Given the description of an element on the screen output the (x, y) to click on. 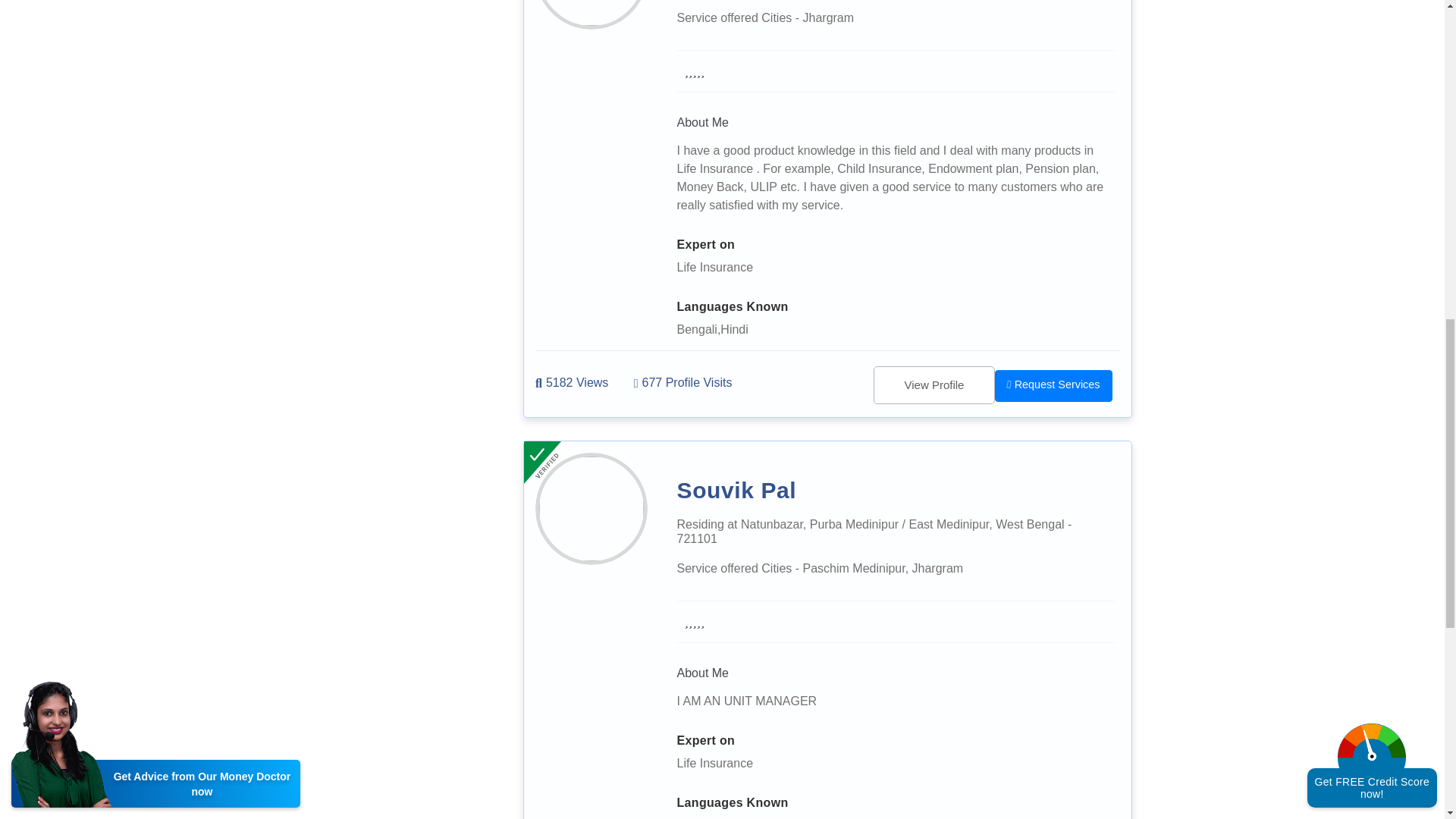
Rate this Service Provider by visiting this profile (695, 621)
Rate this Service Provider by visiting this profile (695, 71)
